Given the description of an element on the screen output the (x, y) to click on. 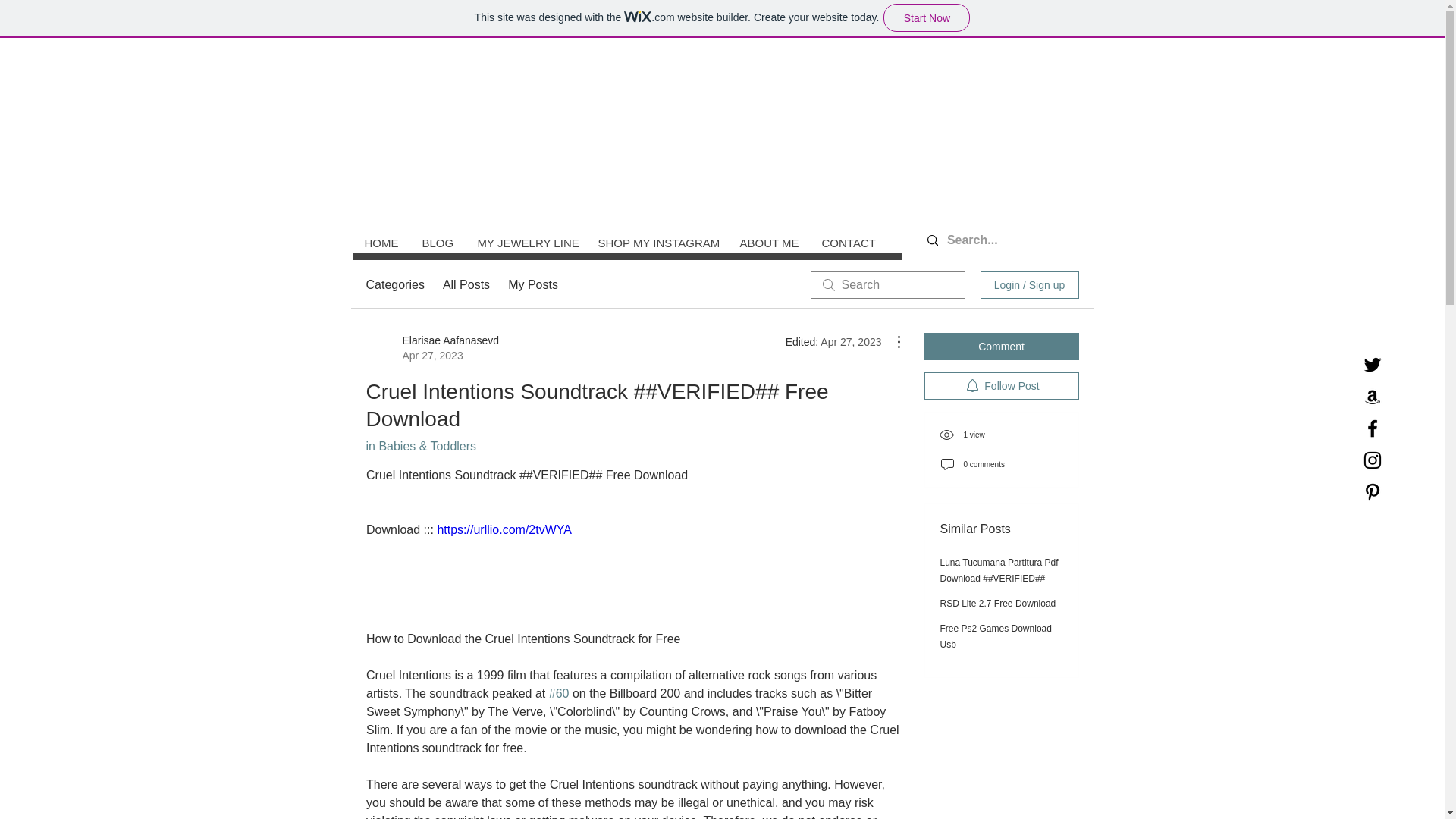
RSD Lite 2.7 Free Download (998, 603)
All Posts (465, 285)
Free Ps2 Games Download Usb (995, 636)
My Posts (532, 285)
ABOUT ME (768, 242)
Categories (394, 285)
CONTACT (847, 242)
HOME (381, 242)
SHOP MY INSTAGRAM (655, 242)
Comment (1000, 346)
Follow Post (1000, 385)
MY JEWELRY LINE (525, 242)
BLOG (436, 242)
